Given the description of an element on the screen output the (x, y) to click on. 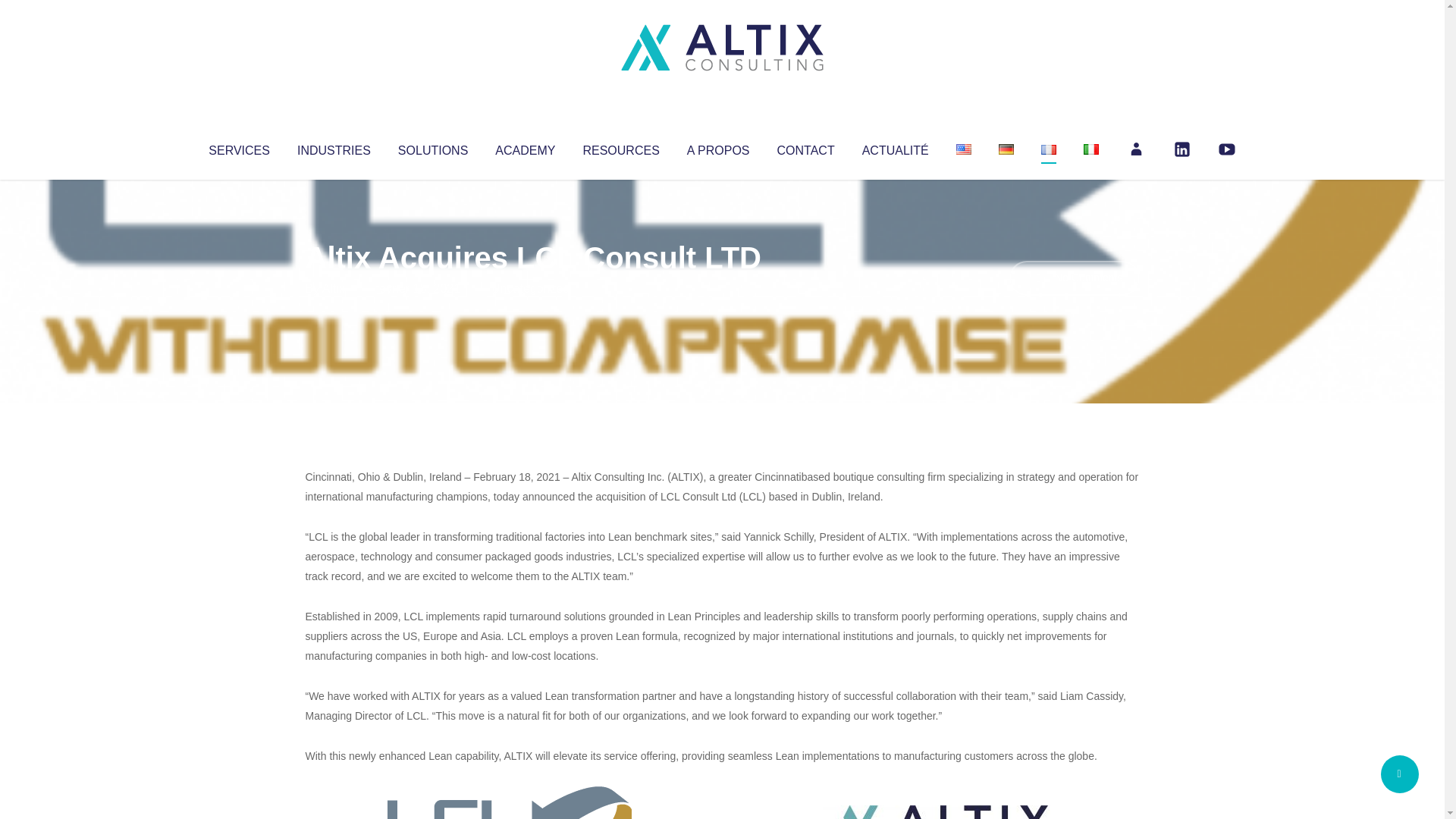
Uncategorized (530, 287)
RESOURCES (620, 146)
Articles par Altix (333, 287)
Altix (333, 287)
A PROPOS (718, 146)
SOLUTIONS (432, 146)
ACADEMY (524, 146)
SERVICES (238, 146)
No Comments (1073, 278)
INDUSTRIES (334, 146)
